Given the description of an element on the screen output the (x, y) to click on. 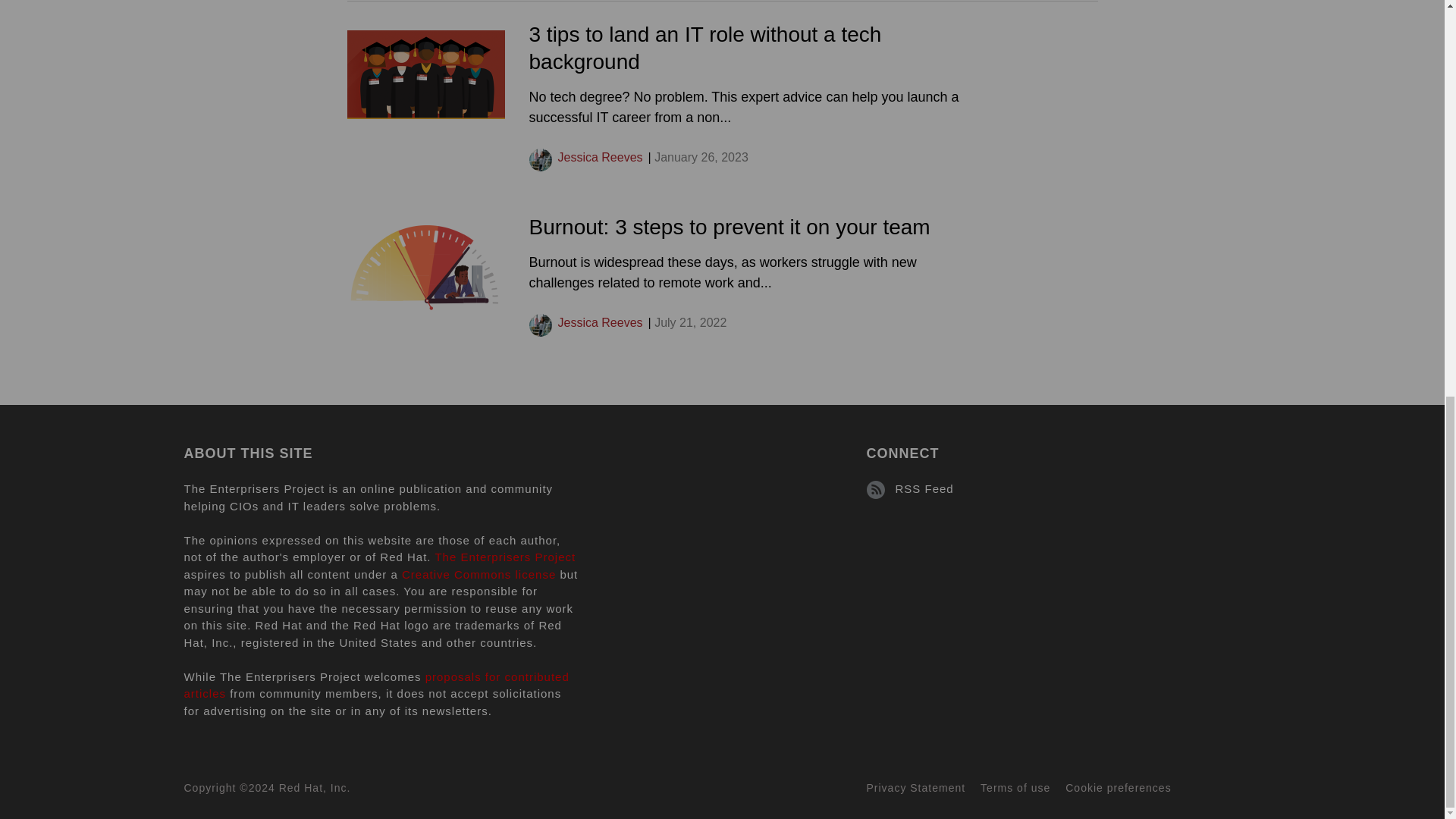
Creative Commons license (478, 574)
Jessica Reeves (600, 322)
3 tips to land an IT role without a tech background (705, 47)
The Enterprisers Project (504, 556)
Creative Commons license (478, 574)
cio role tech degree (426, 74)
Jessica Reeves (600, 156)
The Enterprisers Project (504, 556)
Burnout: 3 steps to prevent it on your team (729, 227)
